Given the description of an element on the screen output the (x, y) to click on. 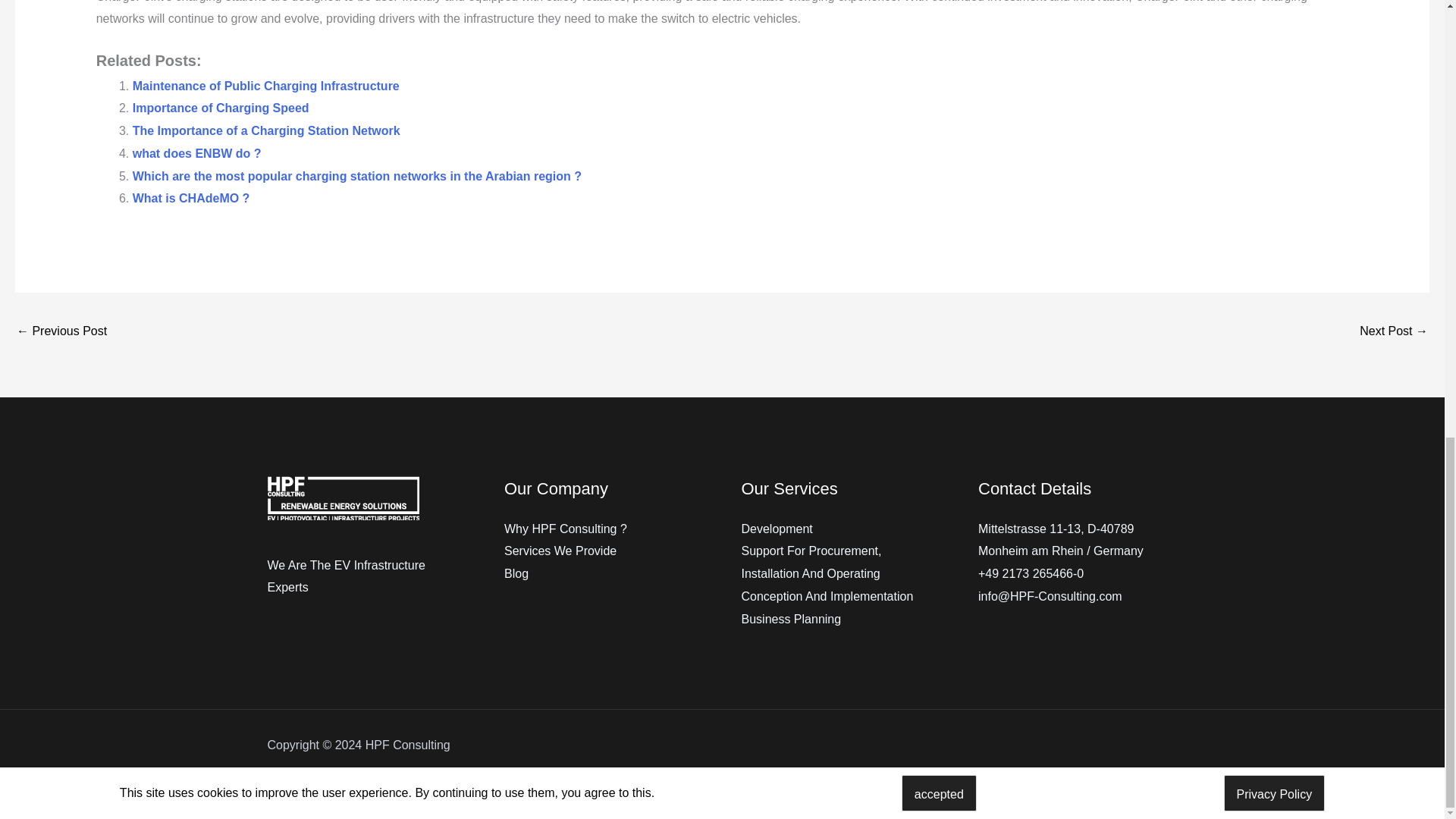
Maintenance of Public Charging Infrastructure (265, 85)
Support For Procurement, Installation And Operating (811, 561)
what does EVgo do ? (1393, 332)
what does ENBW do ? (197, 153)
Business Planning (791, 618)
What is CHAdeMO ? (191, 197)
Importance of Charging Speed (220, 107)
Why HPF Consulting ? (565, 528)
Importance of Charging Speed (220, 107)
The Importance of a Charging Station Network (266, 130)
Development (776, 528)
What is CHAdeMO ? (191, 197)
Conception And Implementation (827, 595)
Services We Provide (559, 550)
